Given the description of an element on the screen output the (x, y) to click on. 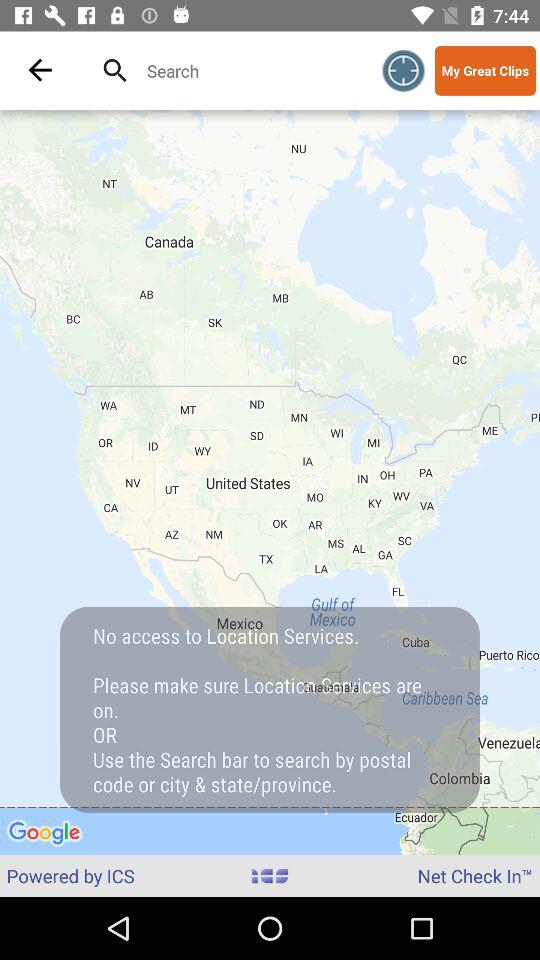
choose the my great clips item (485, 70)
